Given the description of an element on the screen output the (x, y) to click on. 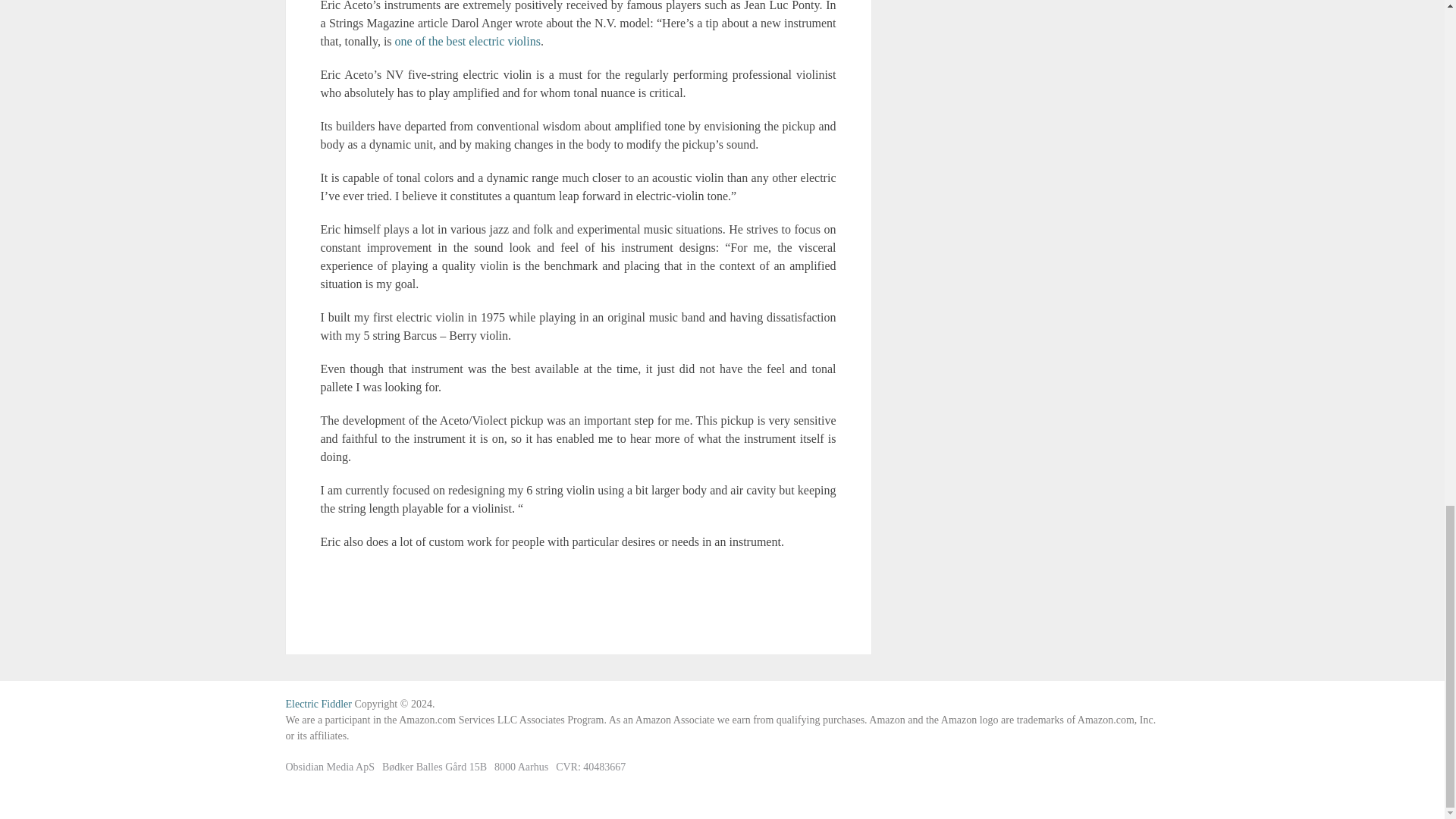
one of the best electric violins (467, 41)
 All About the Violin (317, 704)
Electric Fiddler (317, 704)
